Given the description of an element on the screen output the (x, y) to click on. 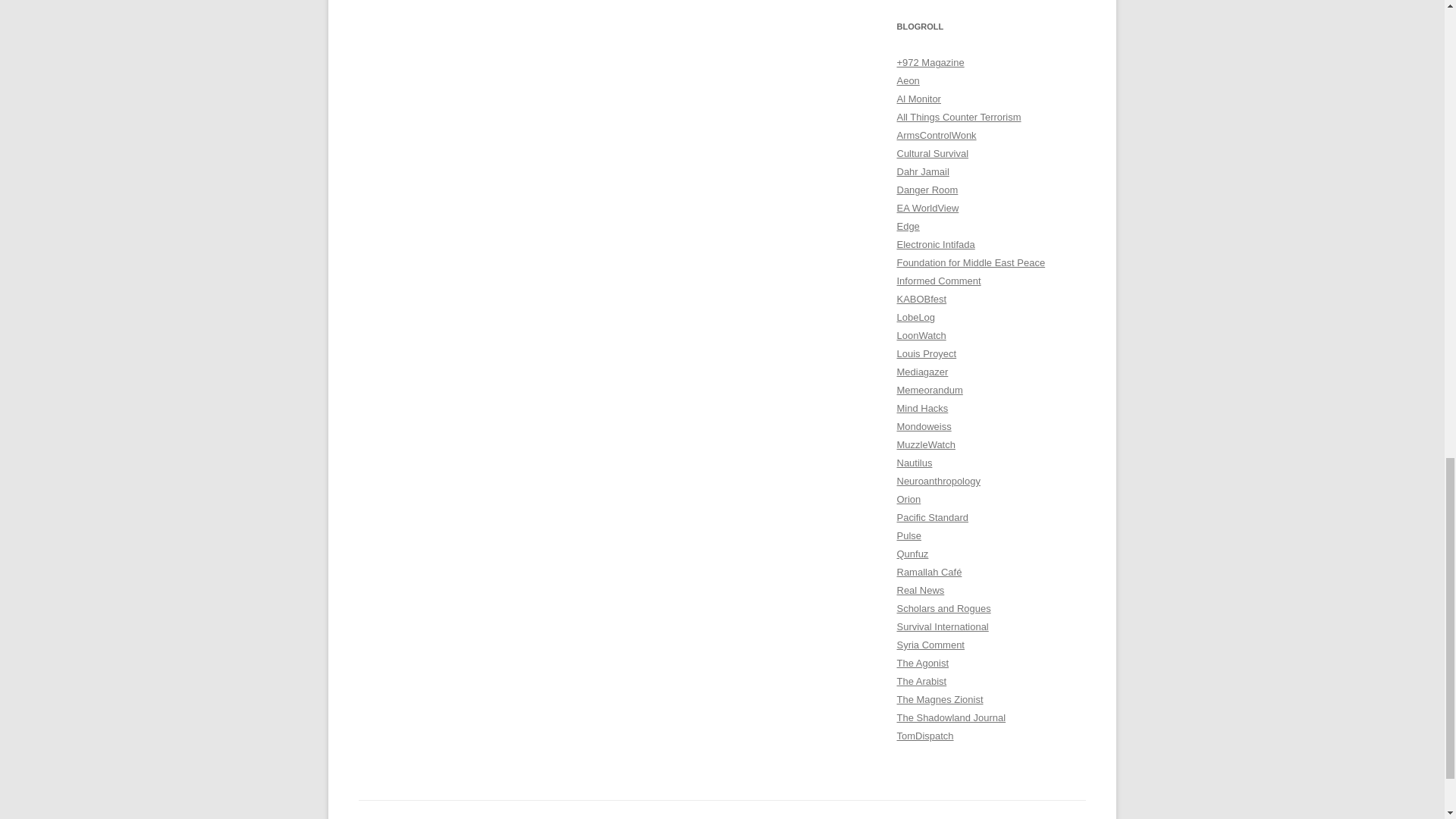
All Things Counter Terrorism (958, 116)
Dahr Jamail (922, 171)
Aeon (907, 80)
Cultural Survival (932, 153)
Edge (907, 225)
Danger Room (927, 189)
Jim Lobe and friends on foreign policy (915, 317)
ArmsControlWonk (935, 134)
